Given the description of an element on the screen output the (x, y) to click on. 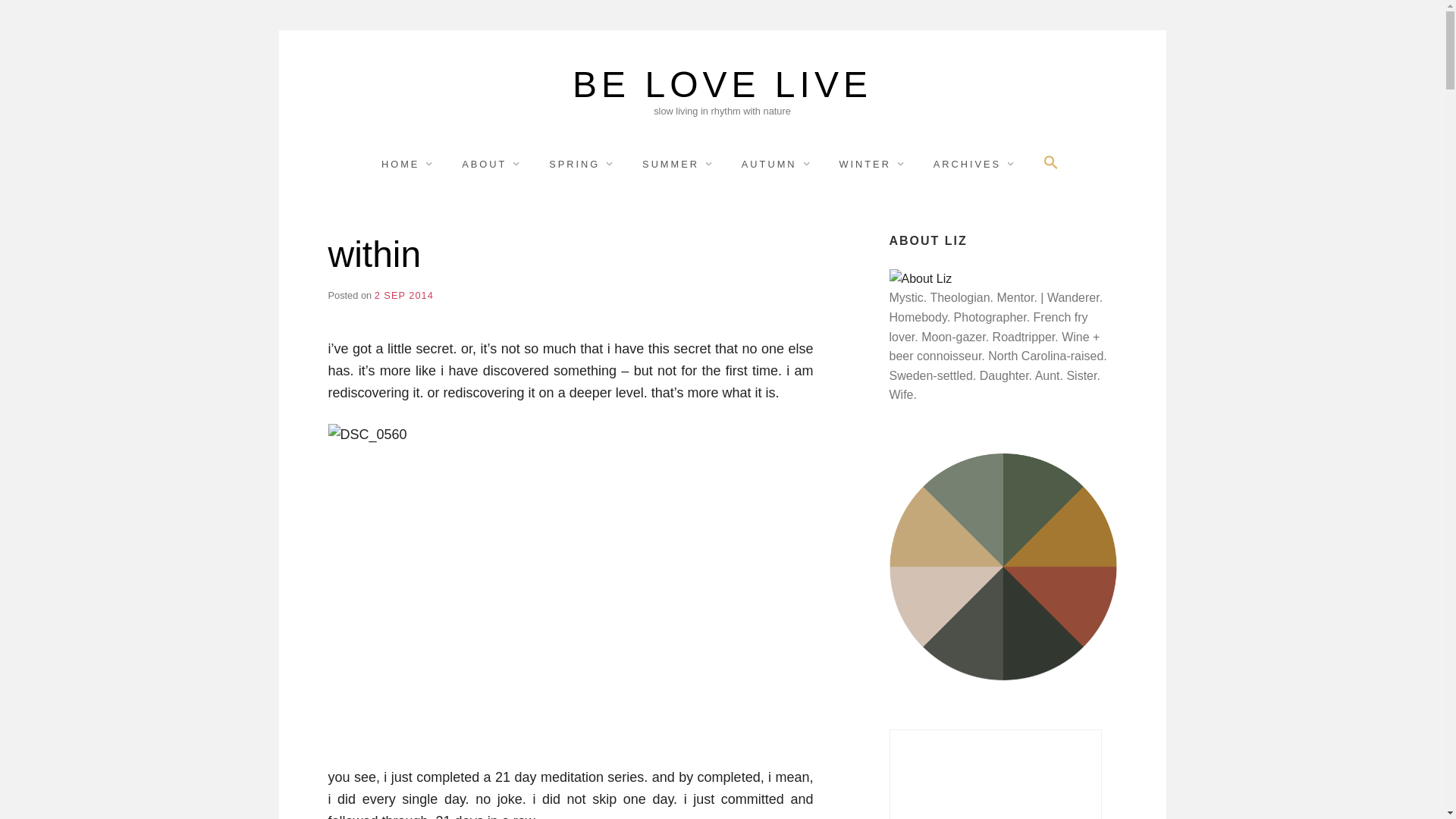
HOME (408, 163)
BE LOVE LIVE (722, 84)
SPRING (581, 163)
ABOUT (491, 163)
